Given the description of an element on the screen output the (x, y) to click on. 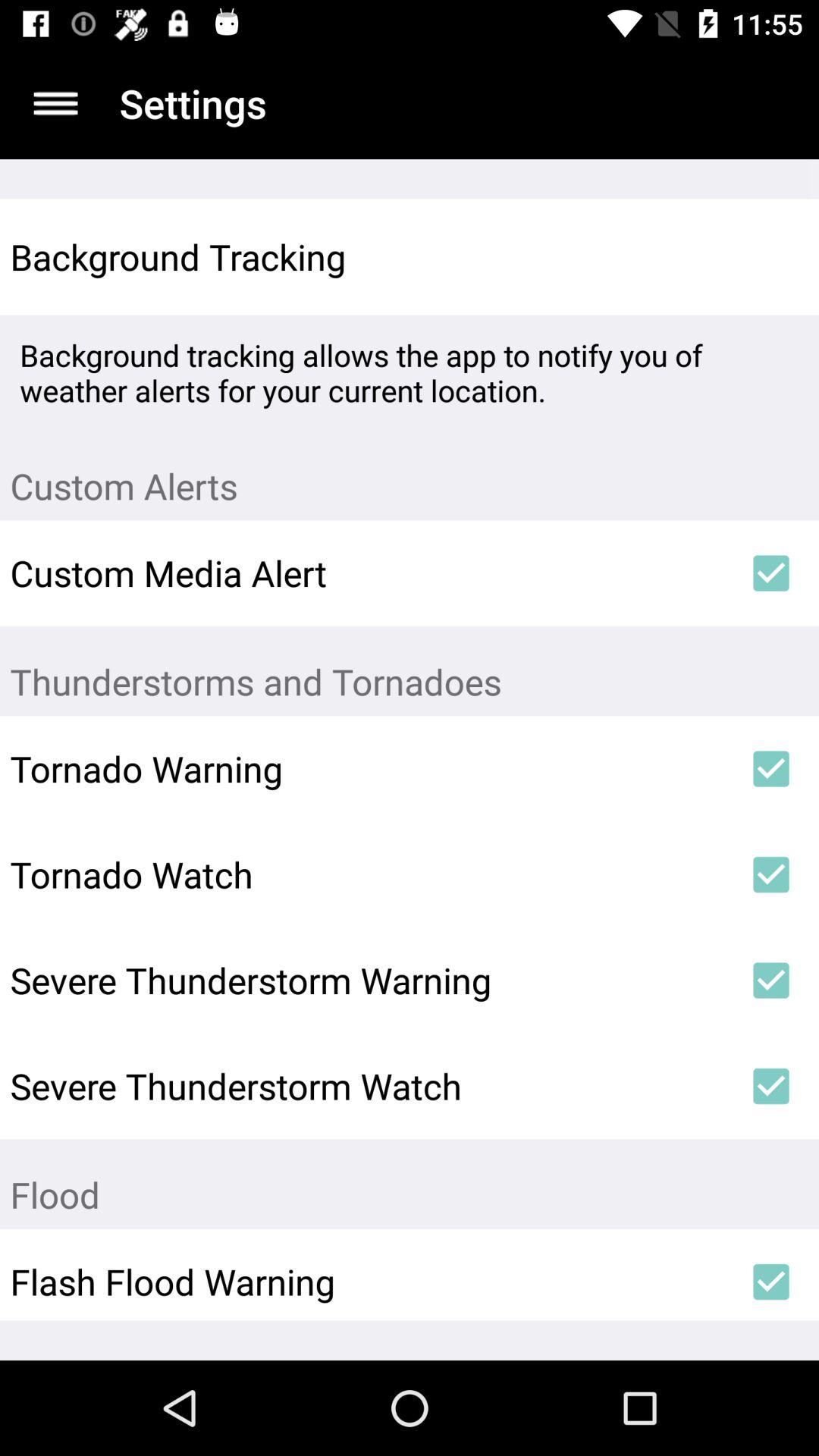
select icon above background tracking allows item (771, 256)
